Given the description of an element on the screen output the (x, y) to click on. 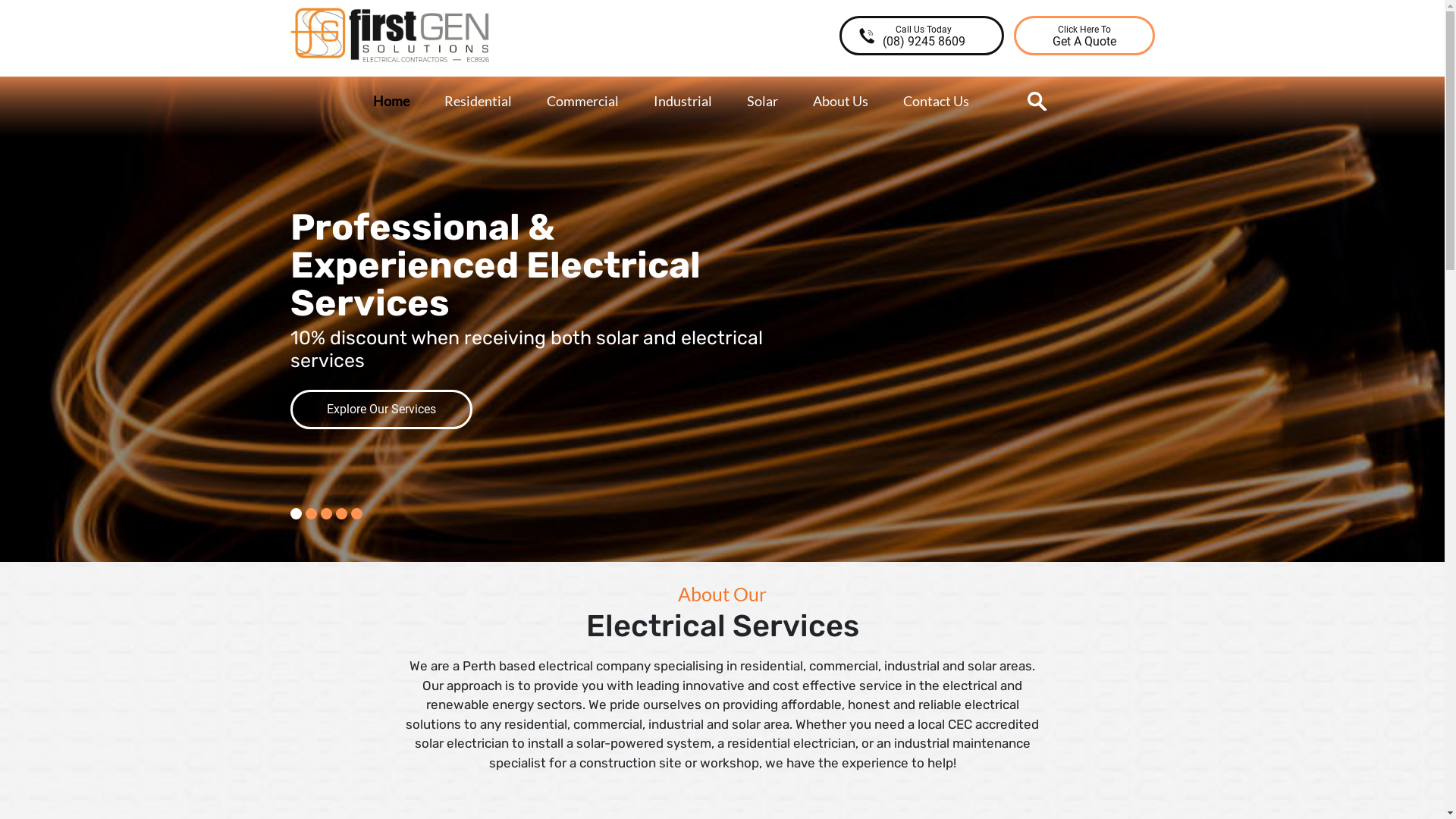
Residential Element type: text (477, 100)
First Gen Solutions Element type: text (346, 72)
Call Us Today
(08) 9245 8609 Element type: text (920, 35)
About Us Element type: text (840, 100)
Industrial Element type: text (682, 100)
Solar Element type: text (761, 100)
Click Here To
Get A Quote Element type: text (1083, 35)
Contact Us Element type: text (935, 100)
Home Element type: text (391, 100)
Commercial Element type: text (582, 100)
